Given the description of an element on the screen output the (x, y) to click on. 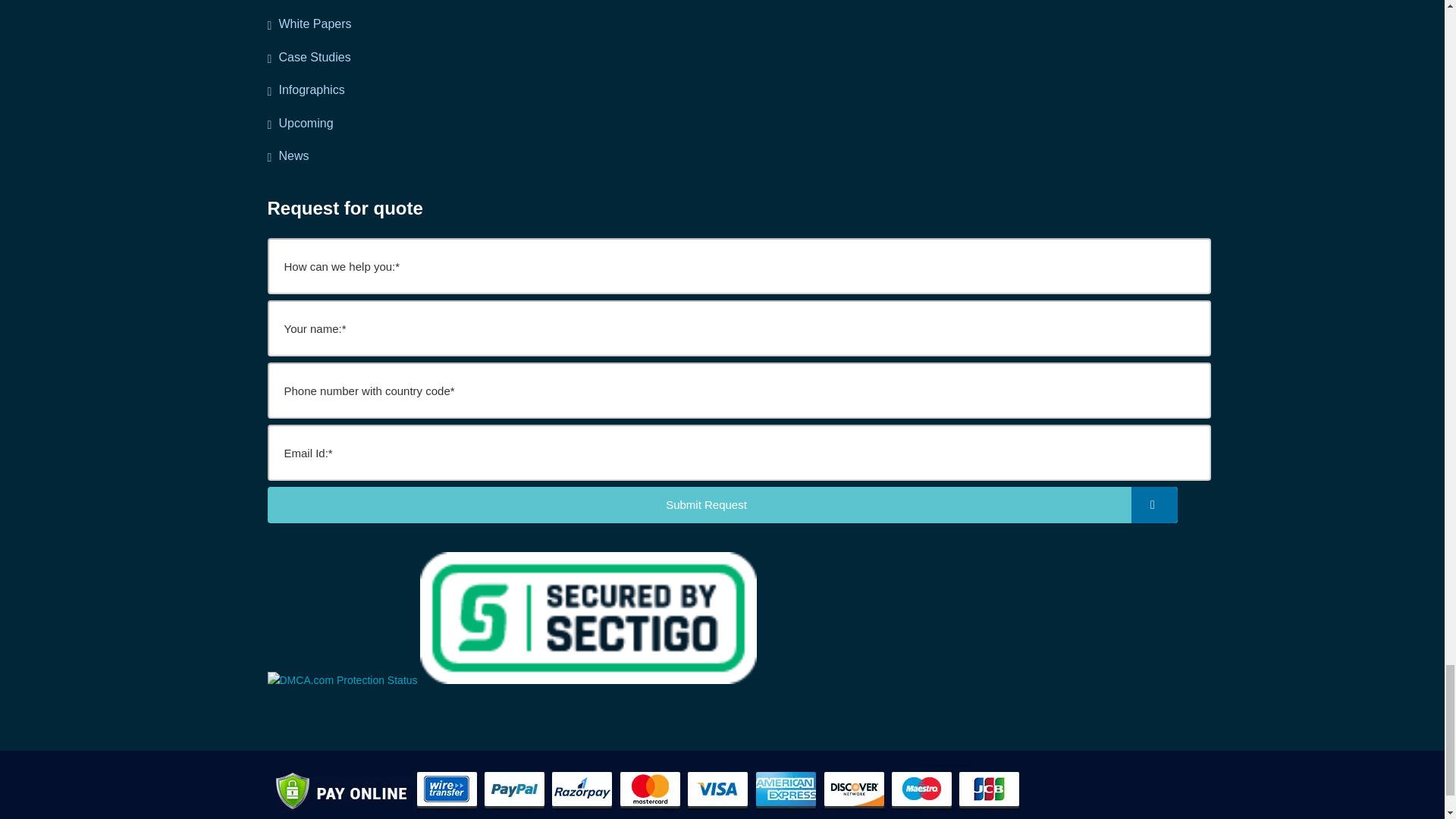
DMCA.com Protection Status (341, 680)
